Given the description of an element on the screen output the (x, y) to click on. 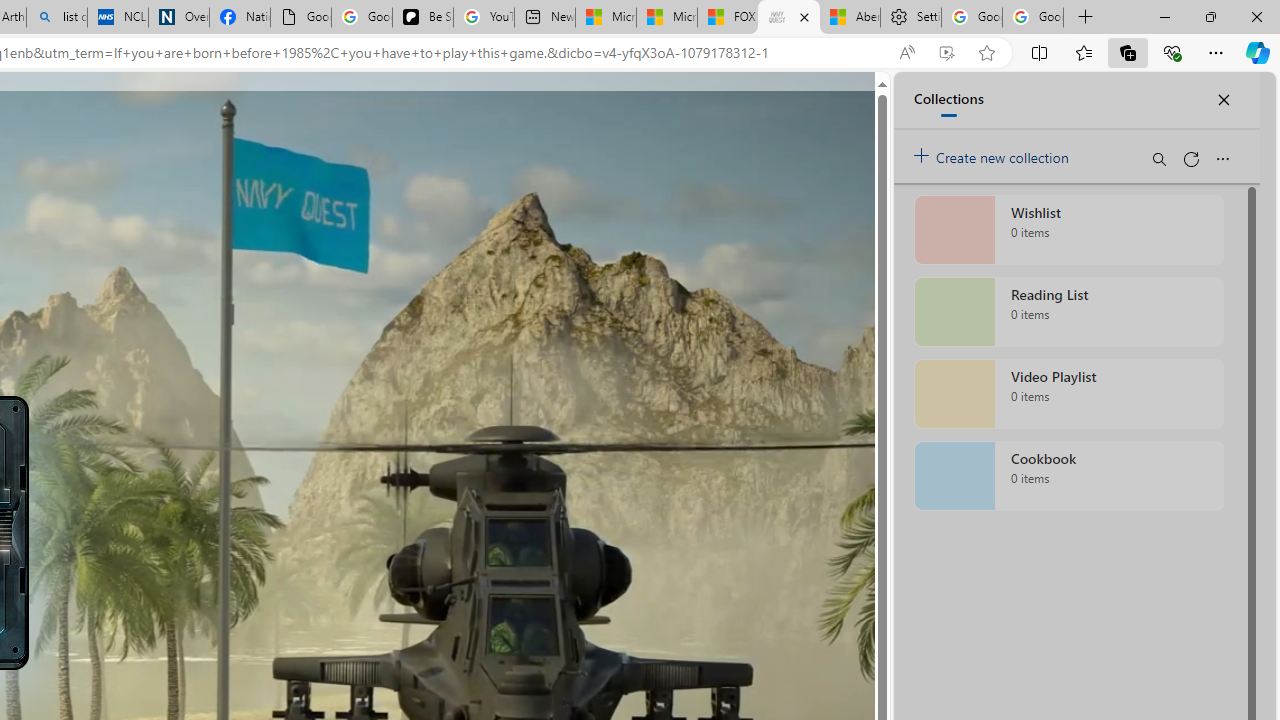
FOX News - MSN (727, 17)
NCL Adult Asthma Inhaler Choice Guideline (118, 17)
list of asthma inhalers uk - Search (56, 17)
Google Analytics Opt-out Browser Add-on Download Page (301, 17)
